Given the description of an element on the screen output the (x, y) to click on. 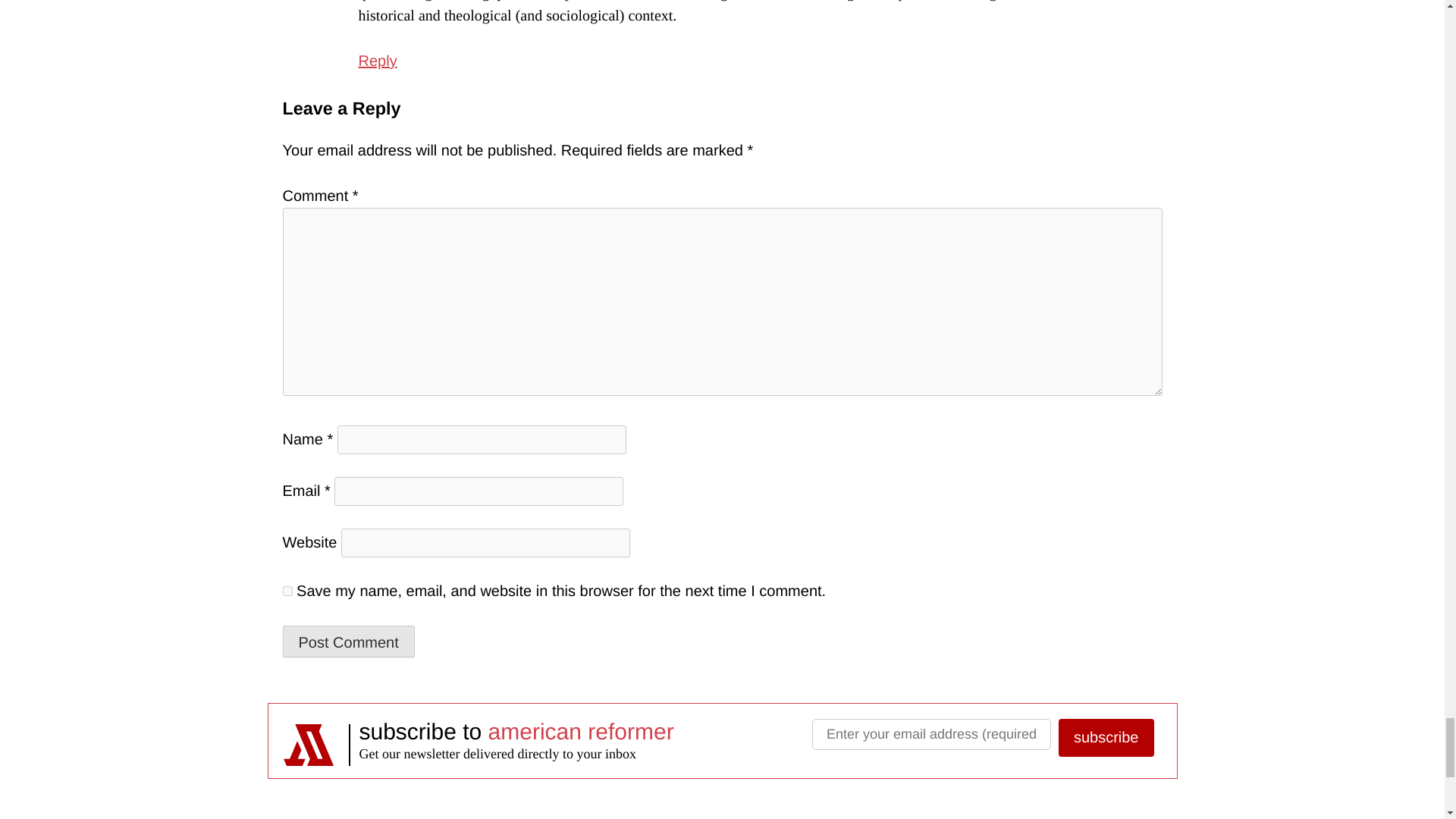
Subscribe (1106, 737)
yes (287, 591)
Post Comment (347, 641)
